Given the description of an element on the screen output the (x, y) to click on. 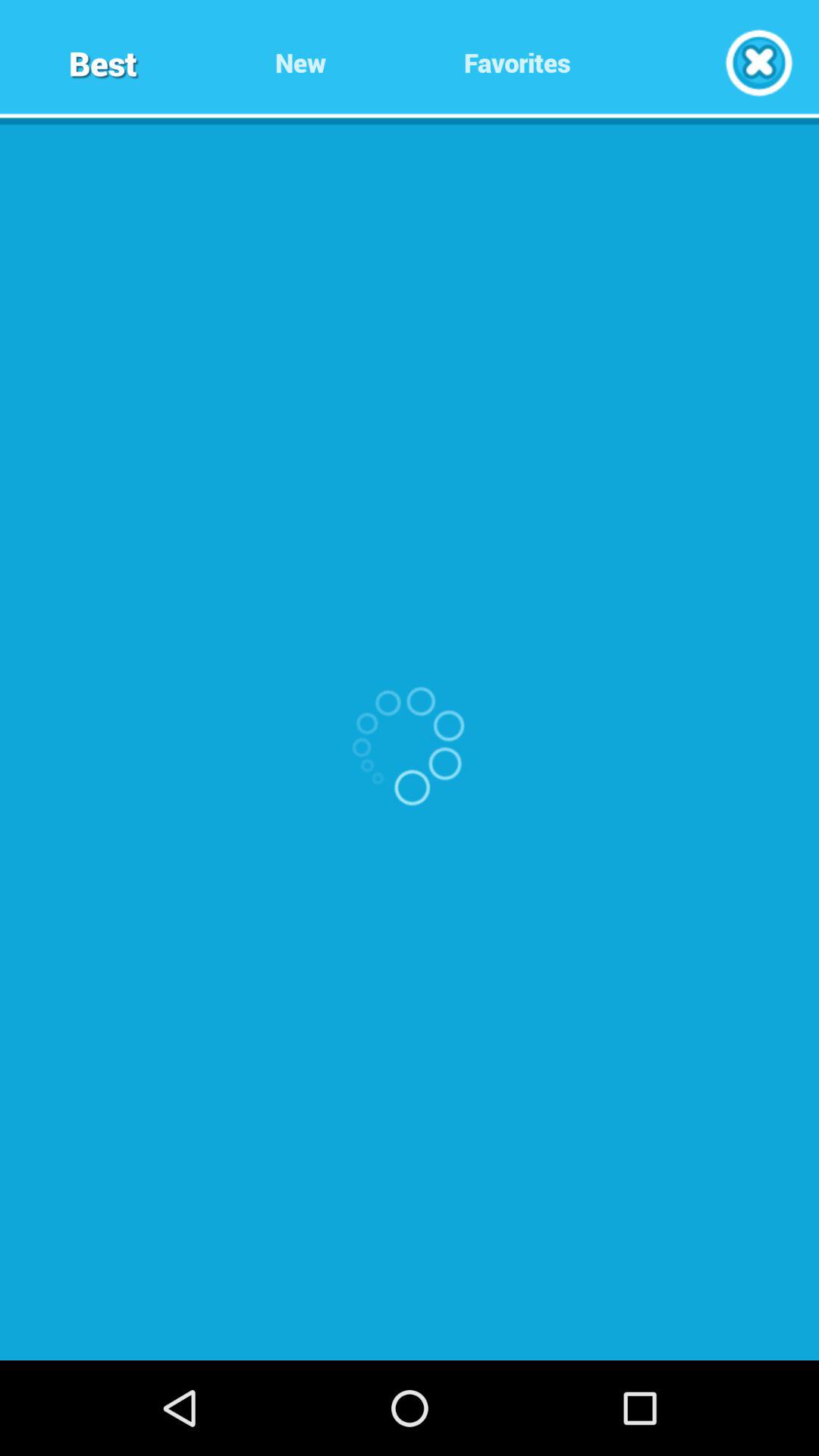
close page (758, 62)
